Given the description of an element on the screen output the (x, y) to click on. 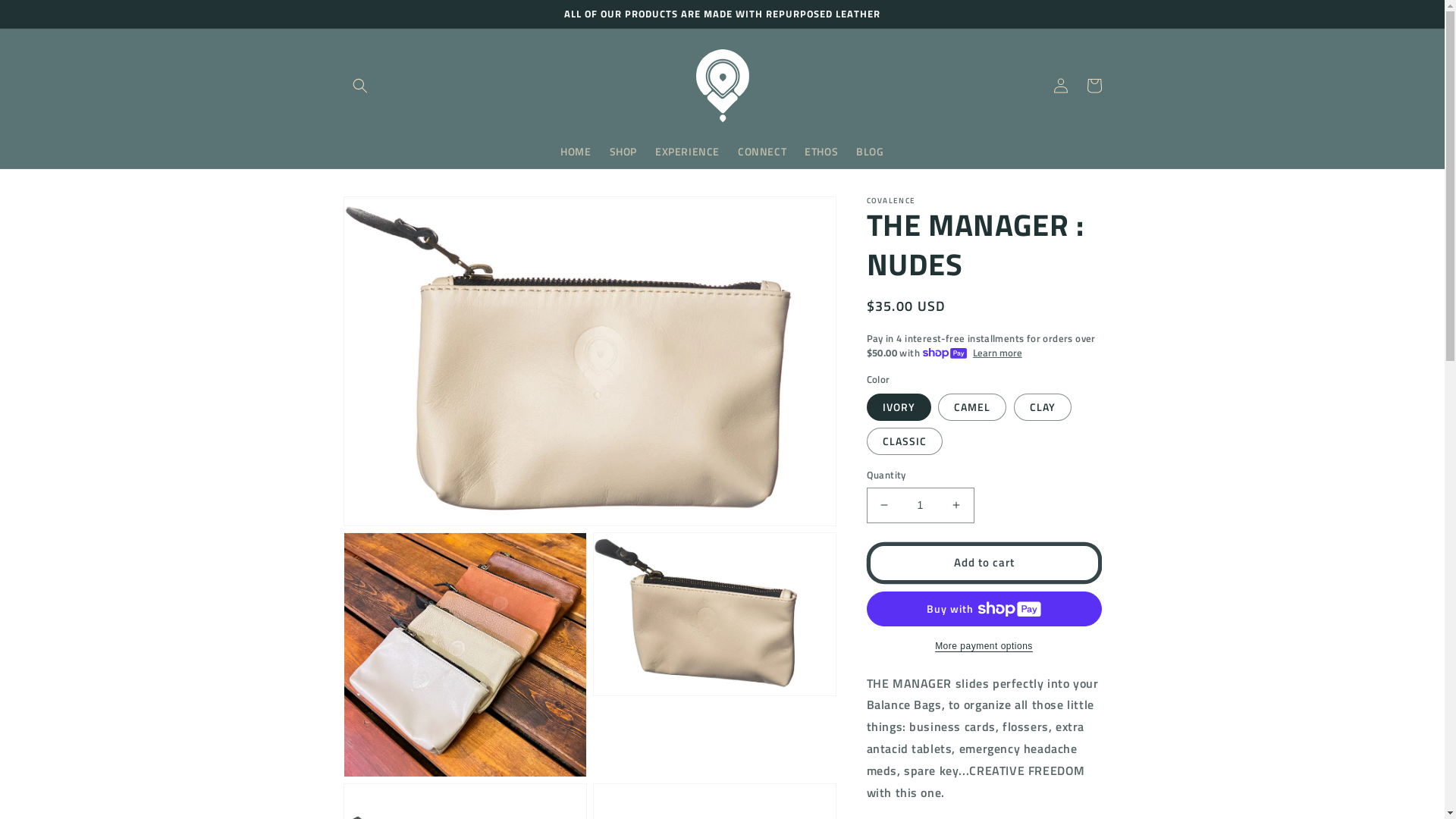
Cart Element type: text (1093, 85)
Decrease quantity for THE MANAGER : NUDES Element type: text (884, 505)
Skip to product information Element type: text (391, 216)
EXPERIENCE Element type: text (687, 151)
Add to cart Element type: text (983, 562)
More payment options Element type: text (983, 645)
SHOP Element type: text (623, 151)
Increase quantity for THE MANAGER : NUDES Element type: text (955, 505)
CONNECT Element type: text (761, 151)
BLOG Element type: text (869, 151)
ETHOS Element type: text (821, 151)
Log in Element type: text (1059, 85)
HOME Element type: text (575, 151)
